Given the description of an element on the screen output the (x, y) to click on. 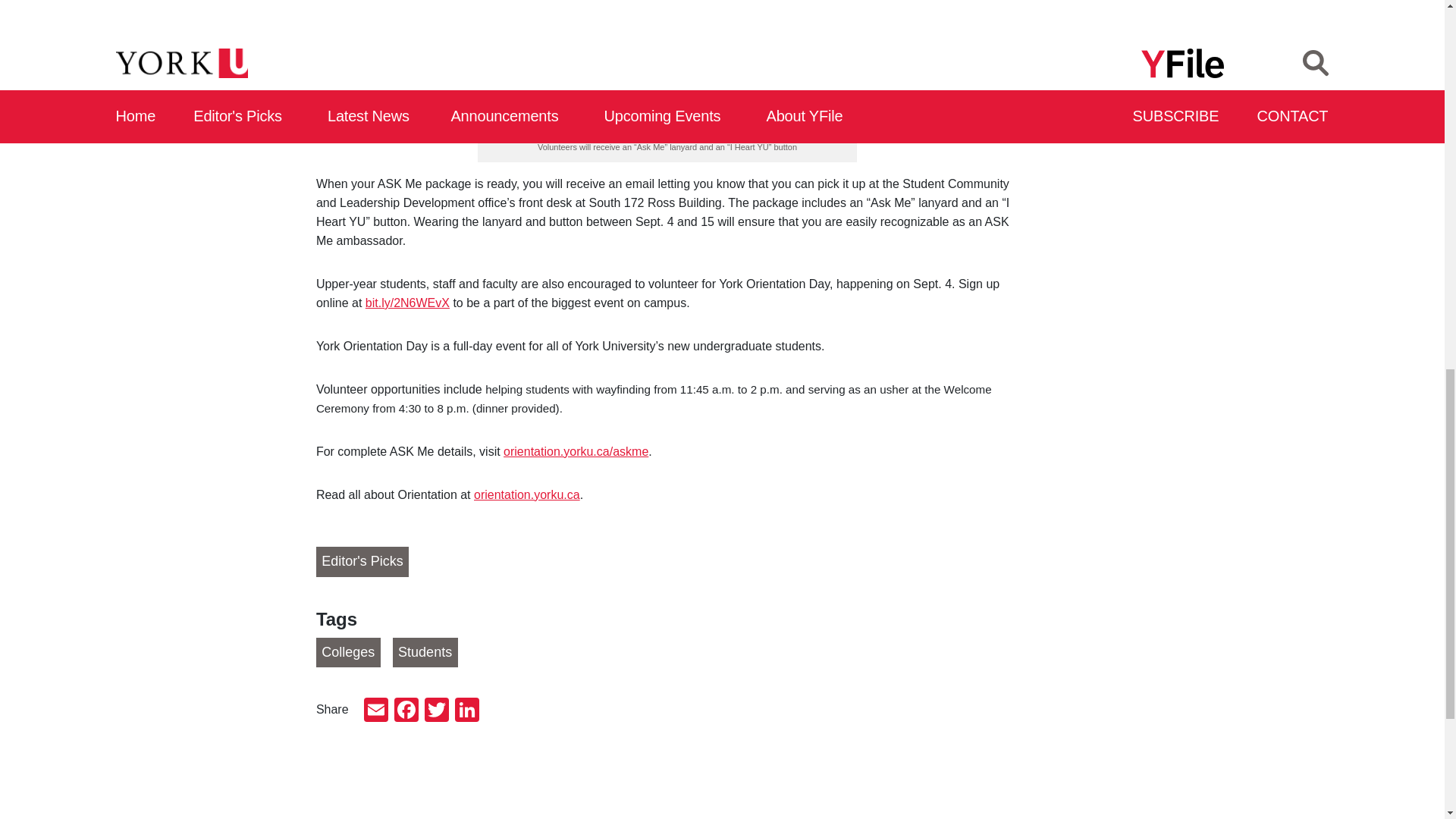
Email (376, 711)
orientation.yorku.ca (526, 494)
Editor's Picks (362, 562)
Facebook (406, 711)
Twitter (436, 711)
LinkedIn (466, 711)
online form (616, 75)
Colleges (347, 653)
